Given the description of an element on the screen output the (x, y) to click on. 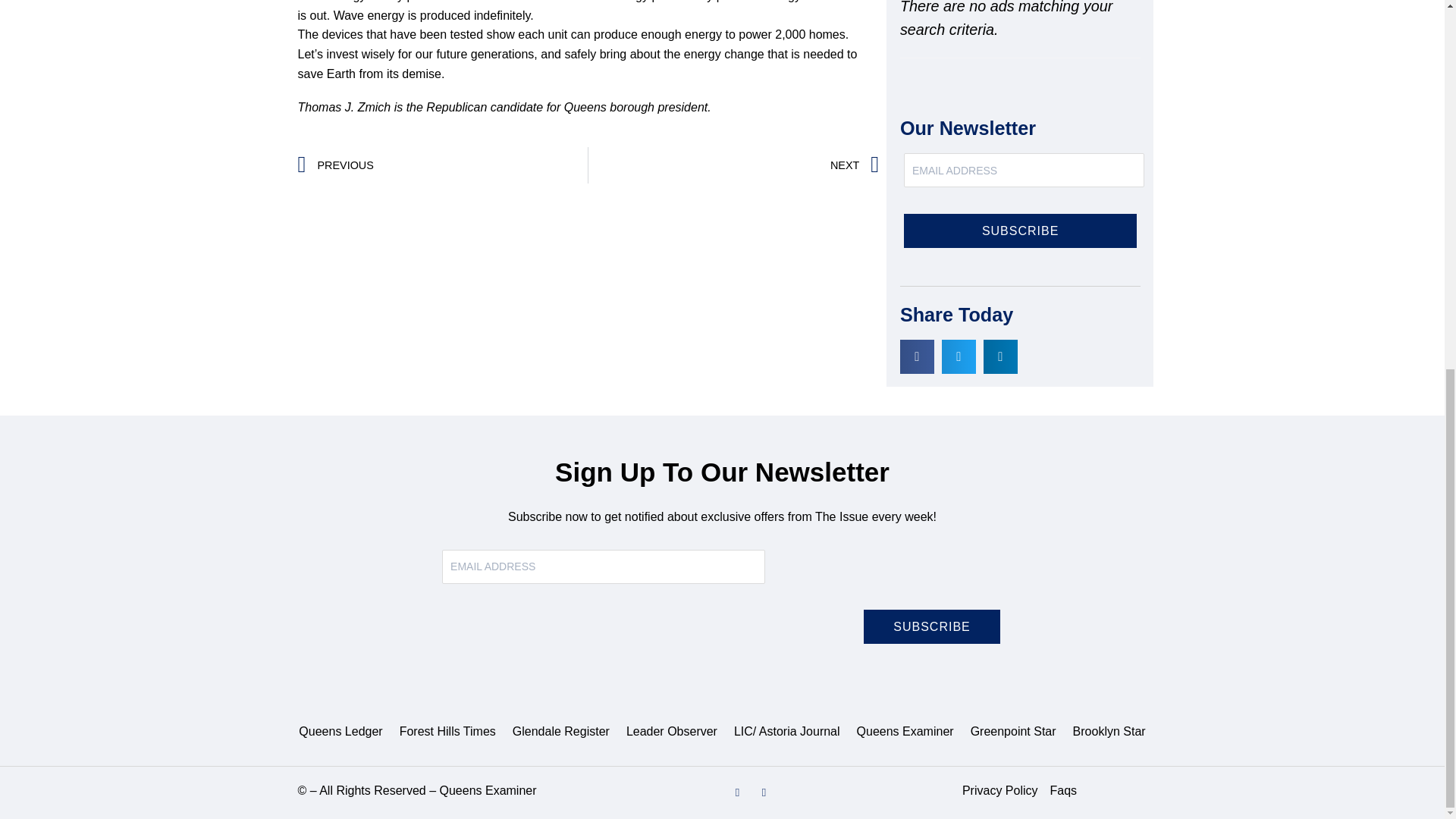
Subscribe (931, 626)
Subscribe (1020, 230)
